Given the description of an element on the screen output the (x, y) to click on. 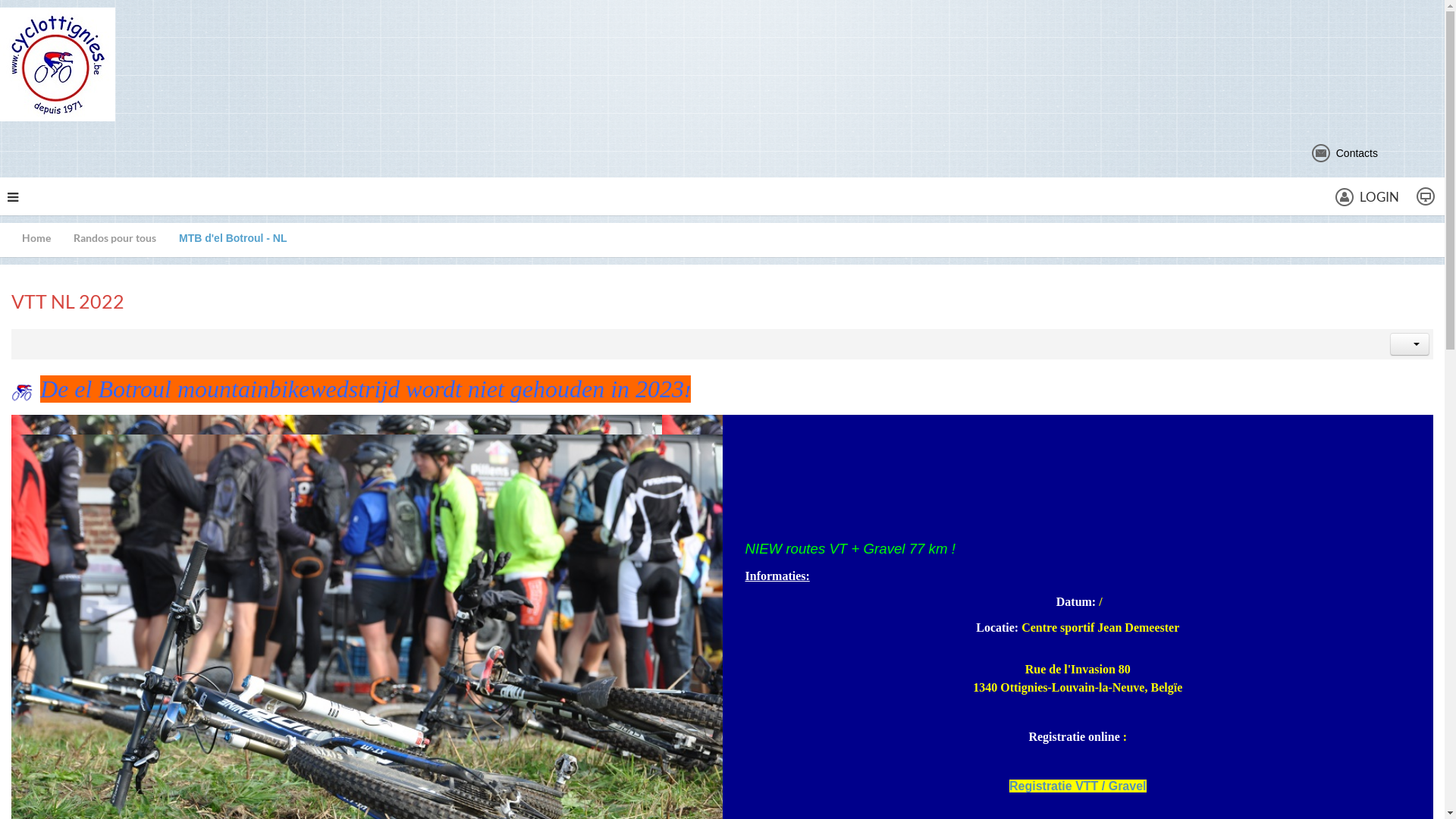
Twitter Element type: text (1431, 152)
Registratie VTT / Gravel Element type: text (1077, 785)
Contacts Element type: text (1344, 152)
Randos pour tous Element type: text (125, 237)
Cyclottignies.be Element type: hover (57, 64)
Home Element type: text (47, 237)
Facebook Element type: text (1405, 152)
